Given the description of an element on the screen output the (x, y) to click on. 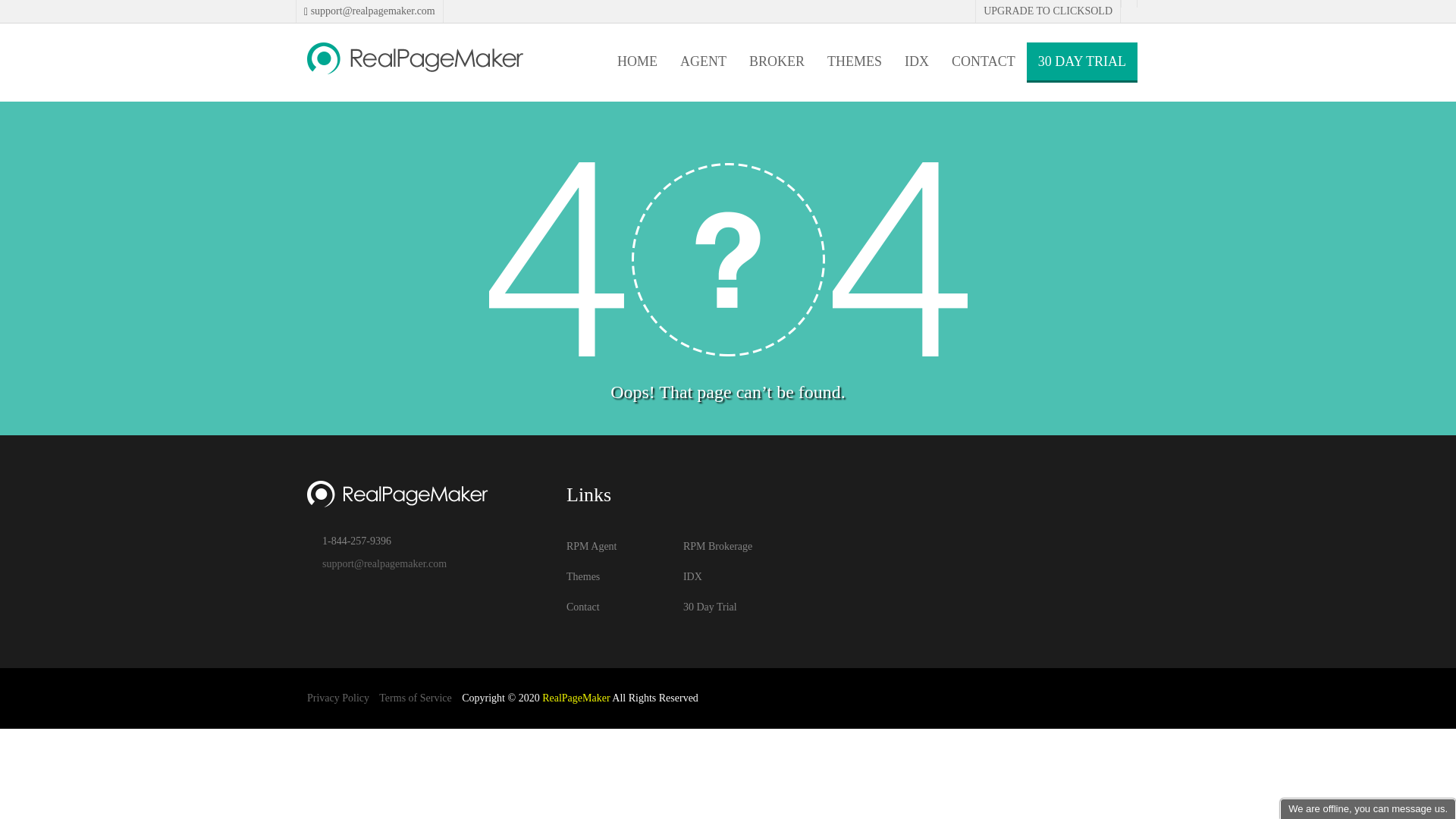
HOME Element type: text (636, 61)
Terms of Service Element type: text (415, 697)
Contact Element type: text (582, 606)
IDX Element type: text (692, 576)
THEMES Element type: text (854, 61)
CONTACT Element type: text (983, 61)
AGENT Element type: text (702, 61)
30 Day Trial Element type: text (710, 606)
support@realpagemaker.com Element type: text (384, 563)
RPM Agent Element type: text (591, 546)
Privacy Policy Element type: text (338, 697)
UPGRADE TO CLICKSOLD Element type: text (1047, 10)
30 DAY TRIAL Element type: text (1081, 61)
RPM Brokerage Element type: text (717, 546)
IDX Element type: text (916, 61)
BROKER Element type: text (776, 61)
Themes Element type: text (582, 576)
support@realpagemaker.com Element type: text (371, 10)
